Given the description of an element on the screen output the (x, y) to click on. 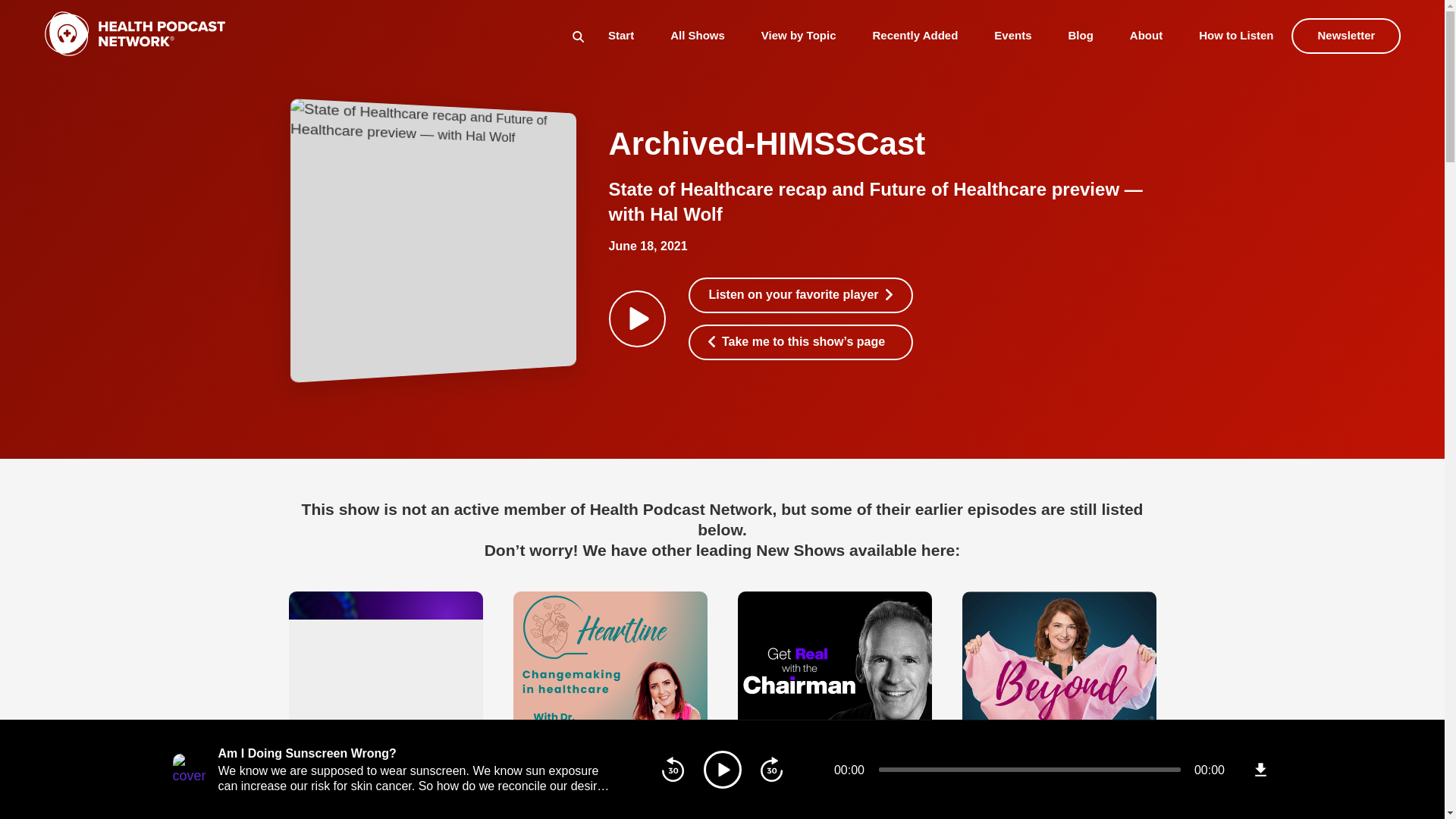
About (1145, 34)
All Shows (697, 34)
Events (1012, 34)
Recently Added (915, 34)
How to Listen (1235, 34)
Blog (1080, 34)
View by Topic (798, 34)
Start (620, 34)
Newsletter (1346, 36)
Listen on your favorite player (800, 294)
